Given the description of an element on the screen output the (x, y) to click on. 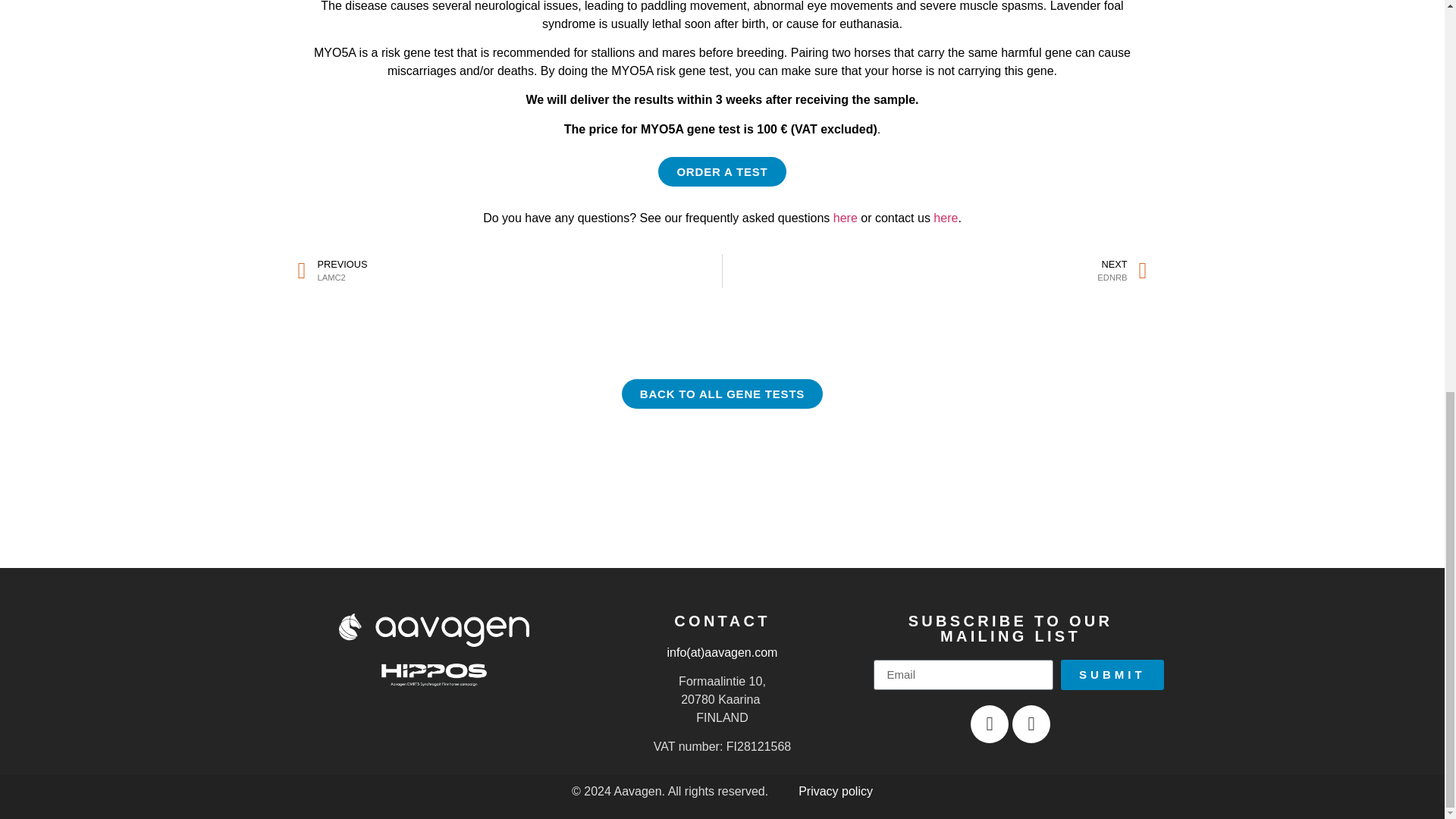
here (844, 217)
SUBMIT (1112, 675)
BACK TO ALL GENE TESTS (721, 393)
ORDER A TEST (722, 171)
Privacy policy (834, 790)
here (934, 270)
